Given the description of an element on the screen output the (x, y) to click on. 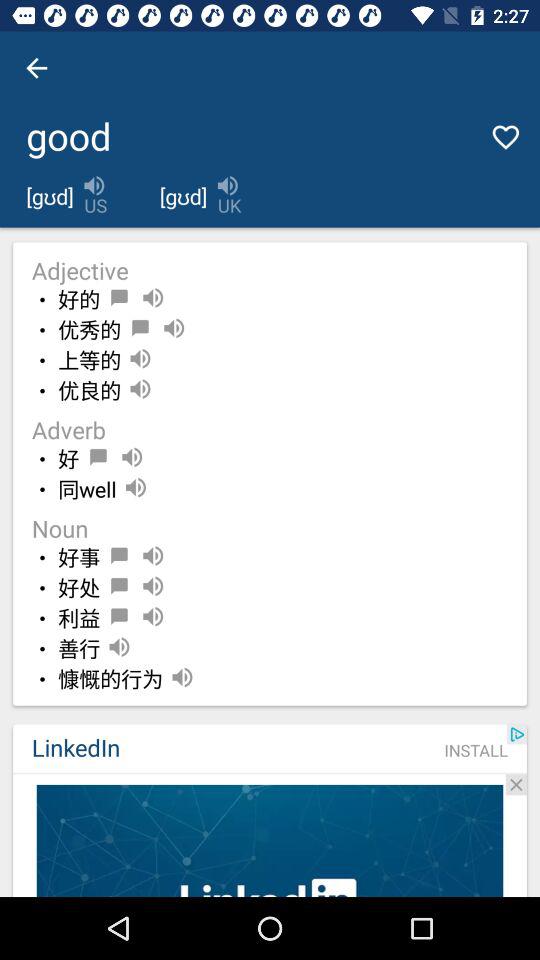
click to see a advertisements (269, 840)
